Given the description of an element on the screen output the (x, y) to click on. 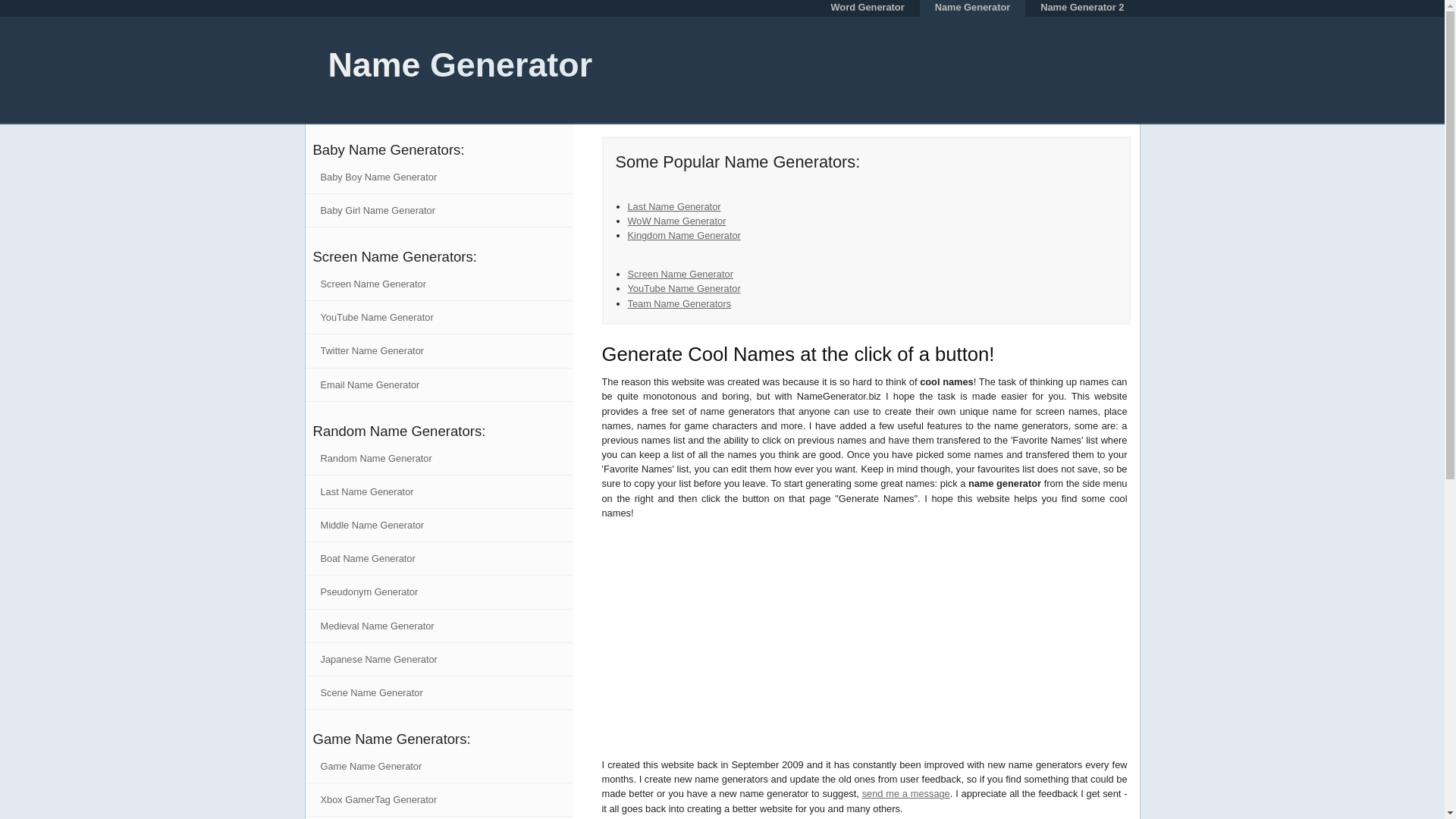
Last Name Generator (438, 491)
Xbox GamerTag Generator (438, 799)
Medieval Name Generator (438, 625)
Team Name Generators (679, 303)
Twitter Name Generator (438, 350)
Scene Name Generator (438, 693)
Random Name Generator (438, 458)
Go to the Name Generator homepage (448, 64)
Name Generator (973, 8)
Name Generator 2 (1081, 8)
Screen Name Generator (680, 274)
Last Name Generator (673, 206)
Boat Name Generator (438, 558)
Japanese Name Generator (438, 659)
